Given the description of an element on the screen output the (x, y) to click on. 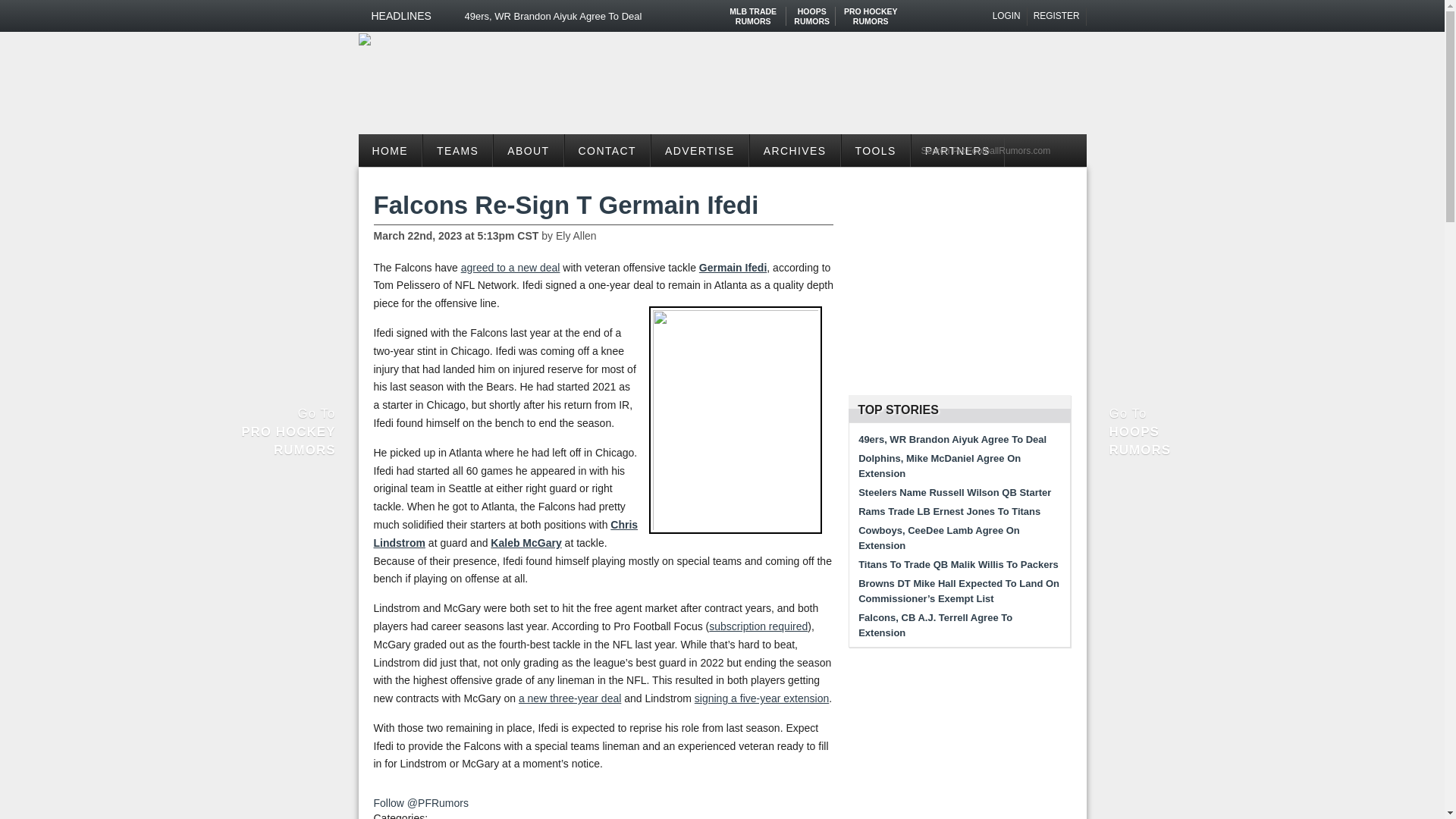
Pro Football Rumors (363, 38)
Search for: (999, 150)
HOME (390, 150)
49ers, WR Brandon Aiyuk Agree To Deal (610, 16)
REGISTER (811, 11)
Search (753, 11)
TEAMS (1056, 16)
